Given the description of an element on the screen output the (x, y) to click on. 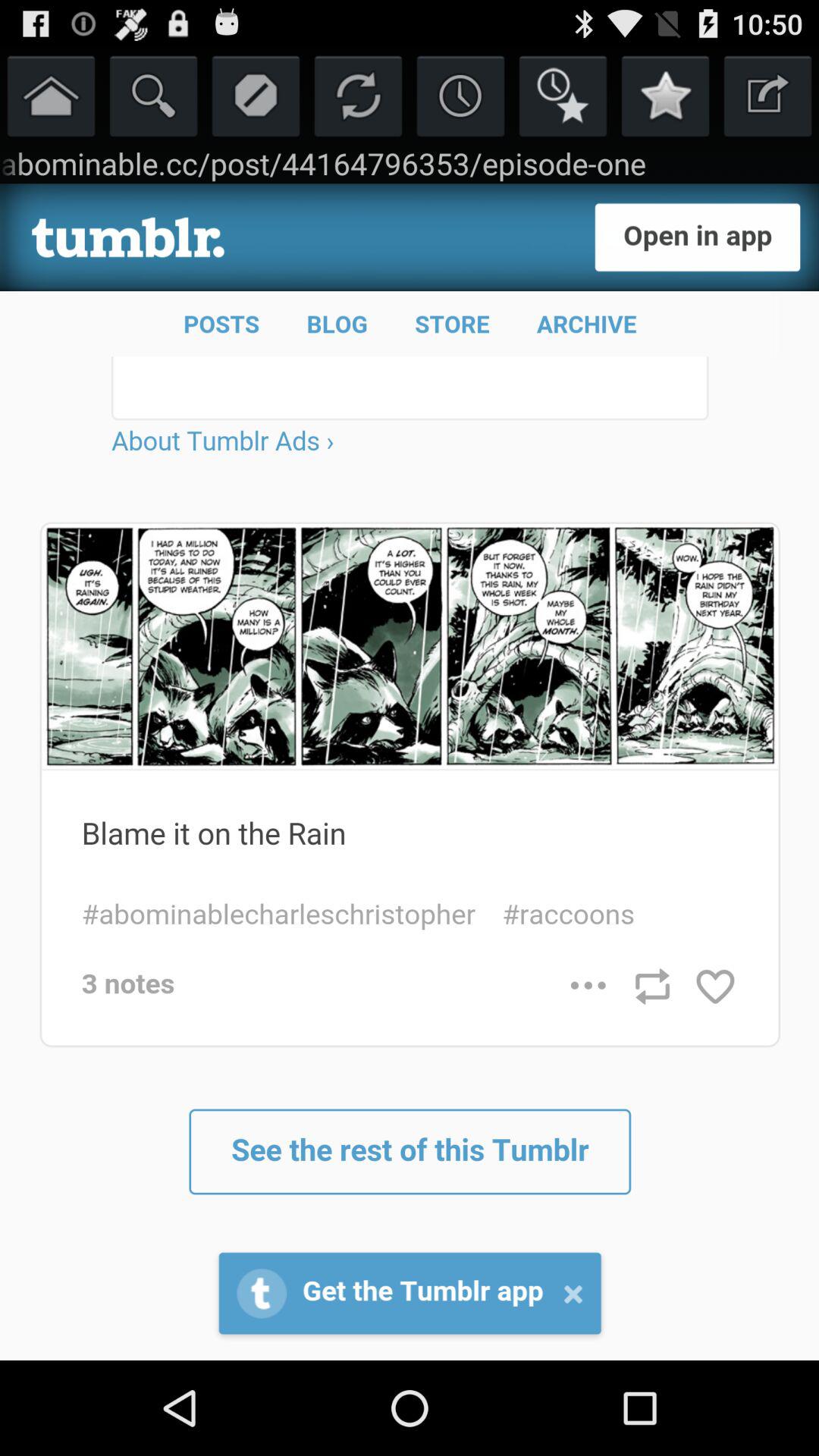
open in different tab (767, 95)
